Given the description of an element on the screen output the (x, y) to click on. 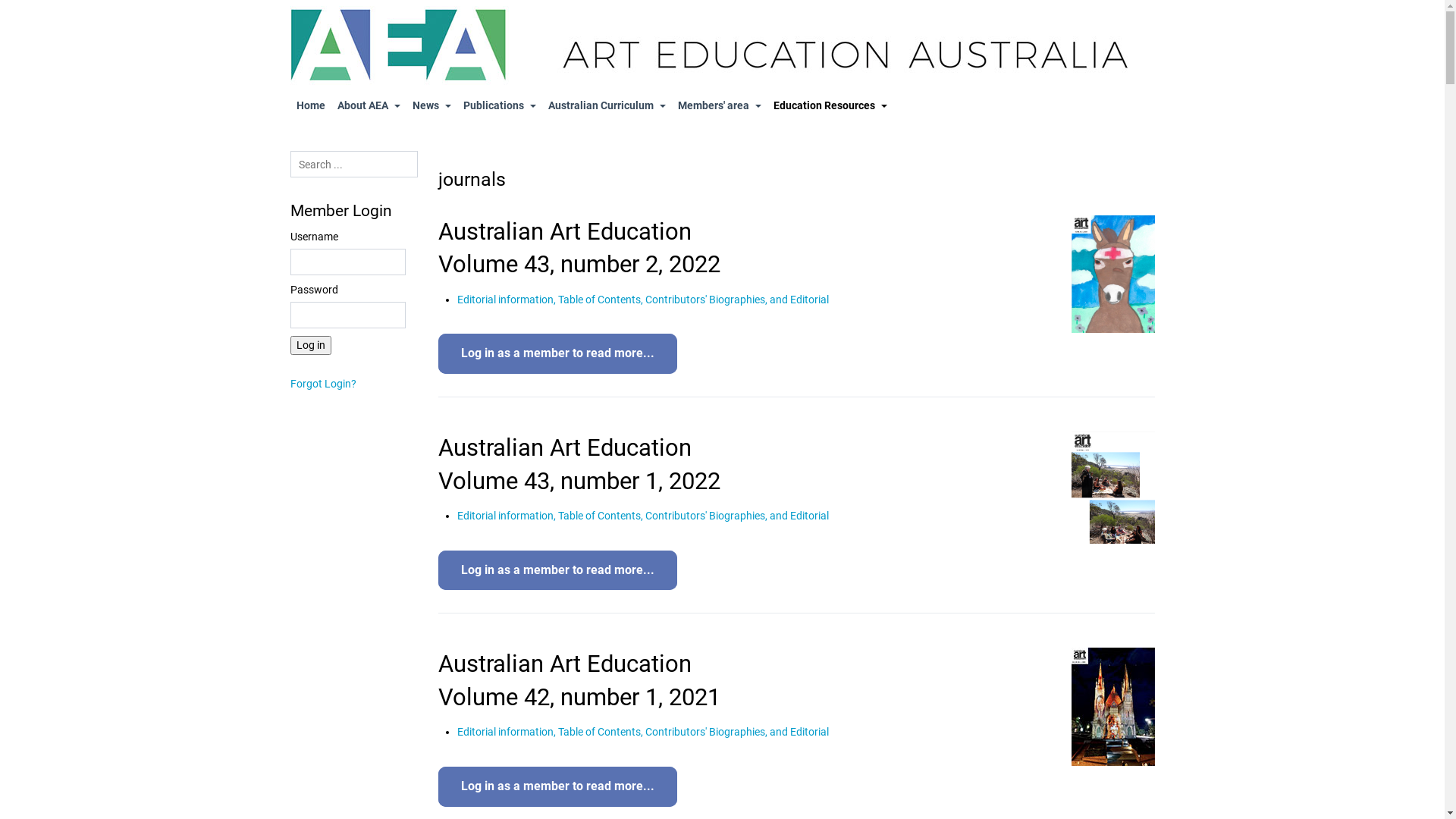
Members' area Element type: text (719, 105)
Art Education Australia Element type: hover (721, 45)
Publications Element type: text (498, 105)
Log in as a member to read more... Element type: text (557, 353)
Australian Curriculum Element type: text (606, 105)
Log in Element type: text (309, 345)
Forgot Login? Element type: text (322, 383)
Log in as a member to read more... Element type: text (557, 786)
About AEA Element type: text (367, 105)
News Element type: text (431, 105)
Log in as a member to read more... Element type: text (557, 570)
Home Element type: text (309, 105)
